Given the description of an element on the screen output the (x, y) to click on. 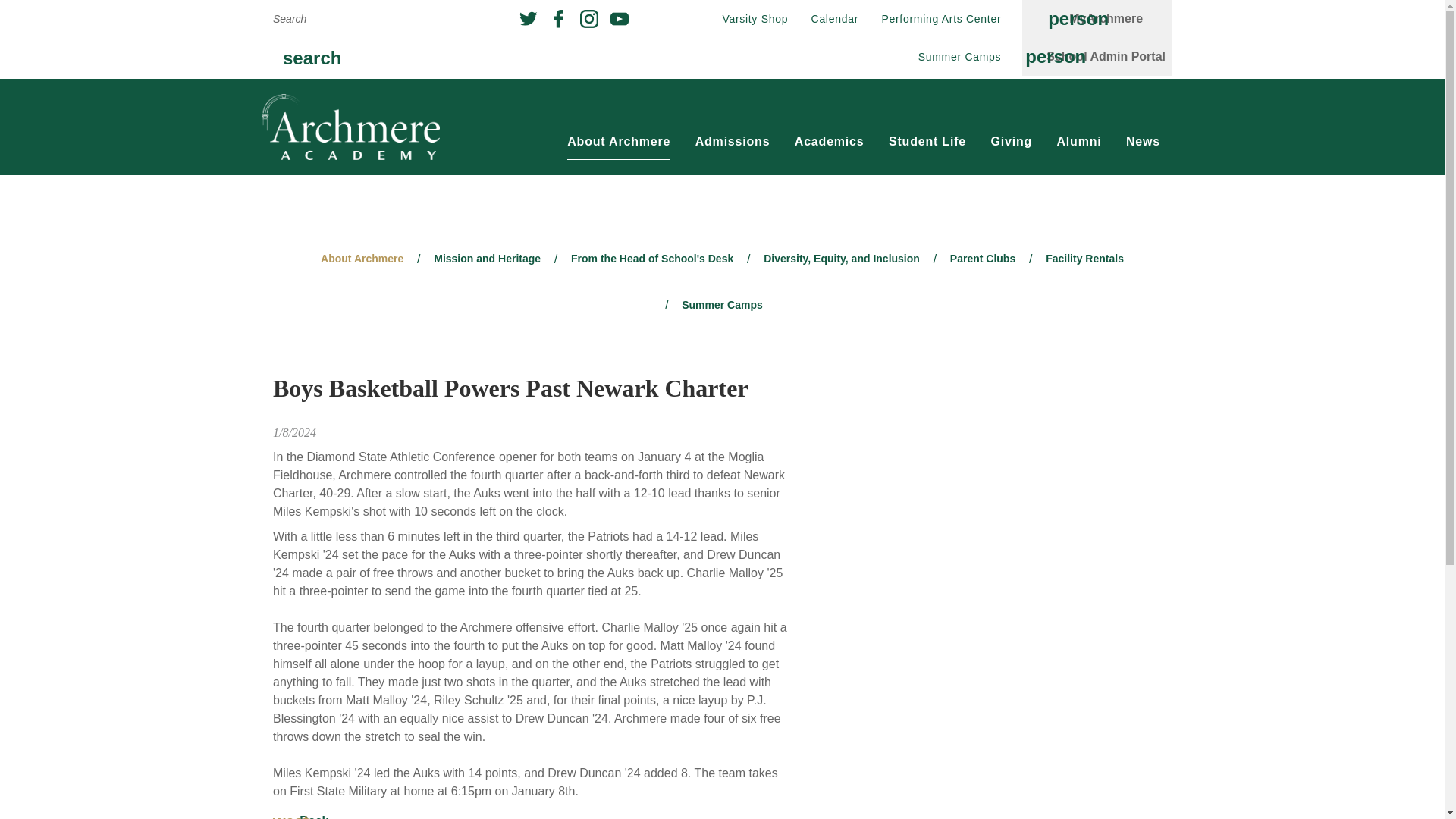
search (311, 57)
